Given the description of an element on the screen output the (x, y) to click on. 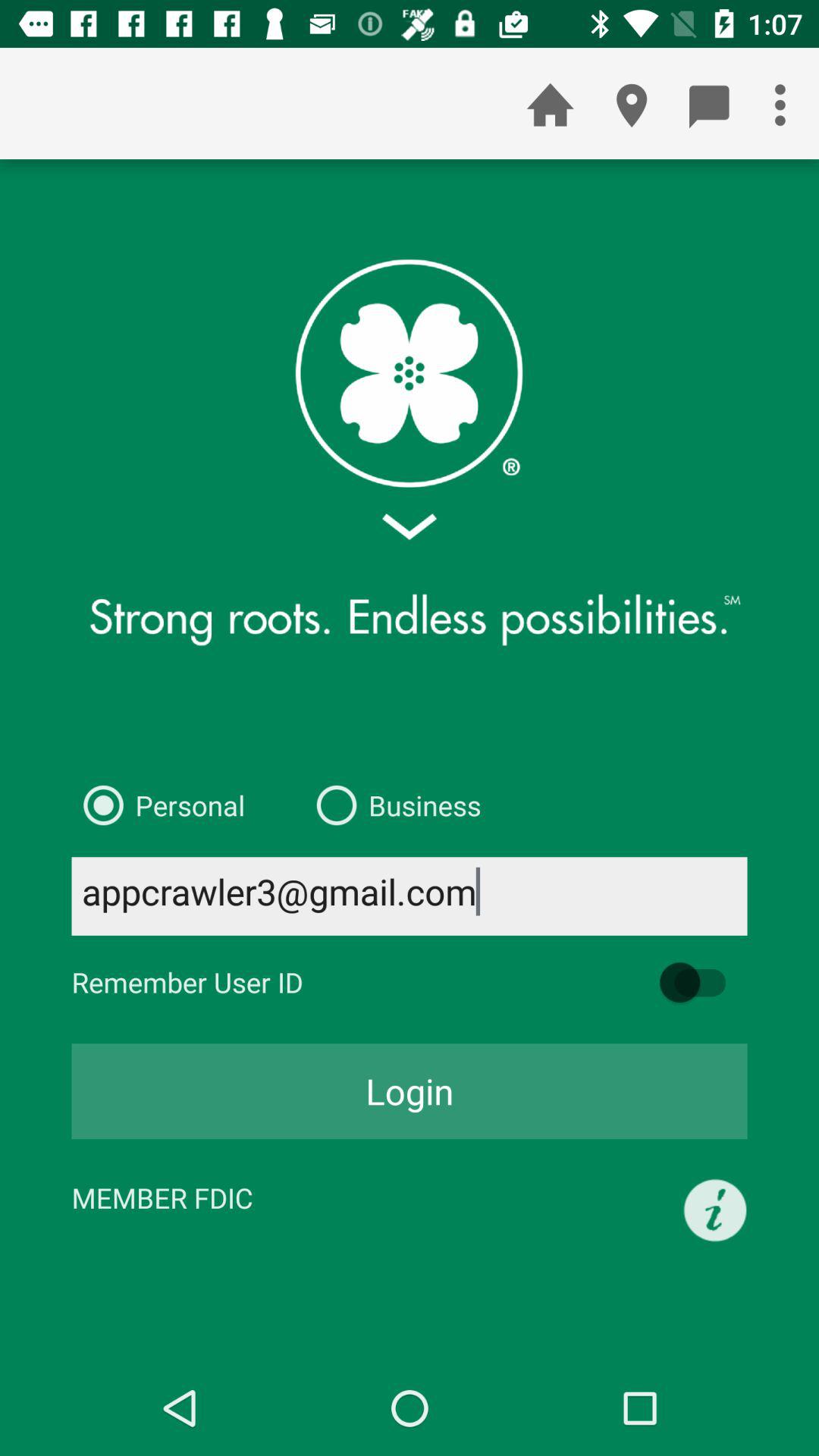
toggle remember user id option (699, 982)
